Given the description of an element on the screen output the (x, y) to click on. 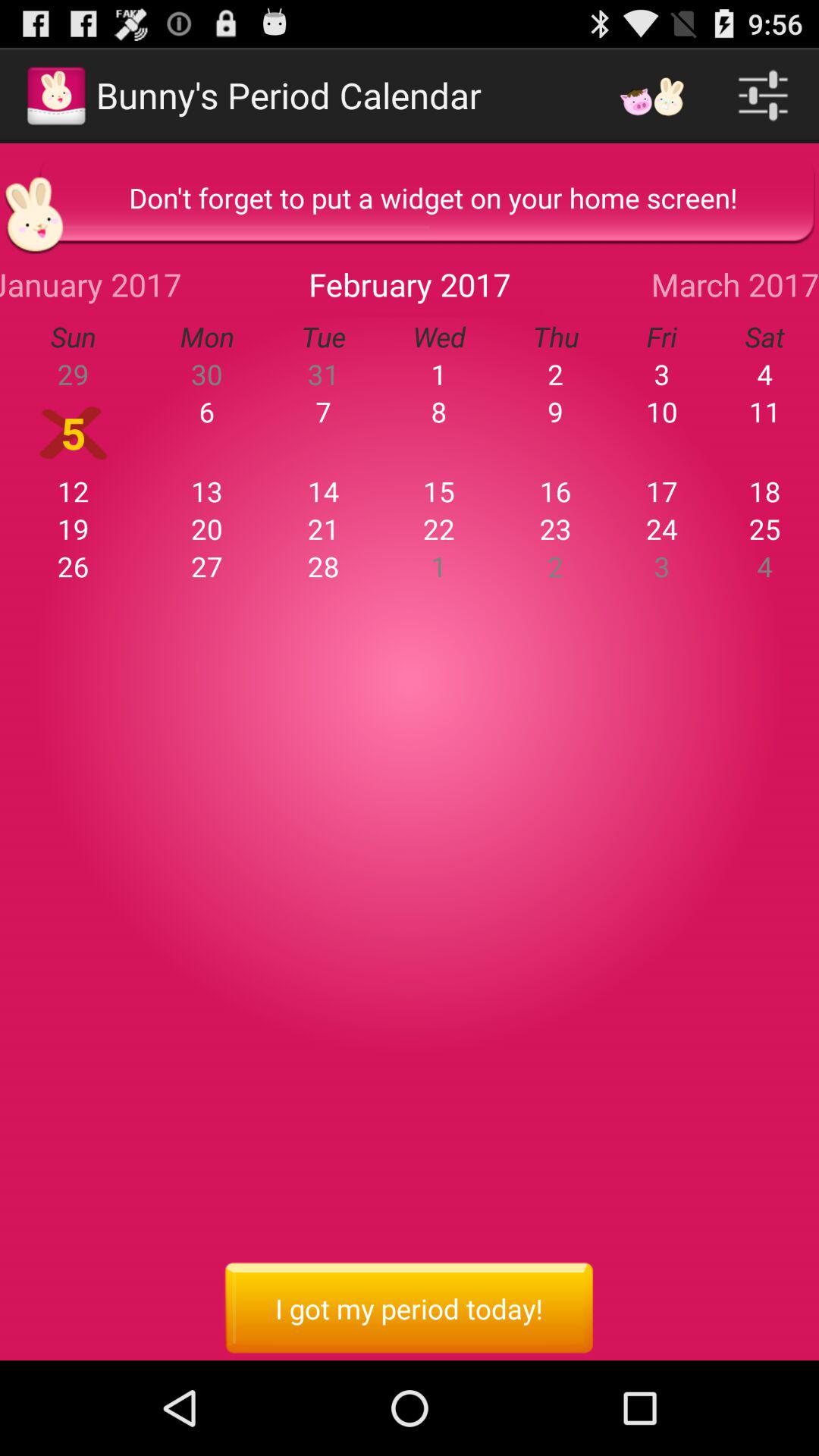
go to 15 (439, 491)
click 21 (323, 529)
select the date as 17th (661, 491)
select 3 in february 2017 (661, 374)
select 20 which is just below 13 (207, 529)
